Given the description of an element on the screen output the (x, y) to click on. 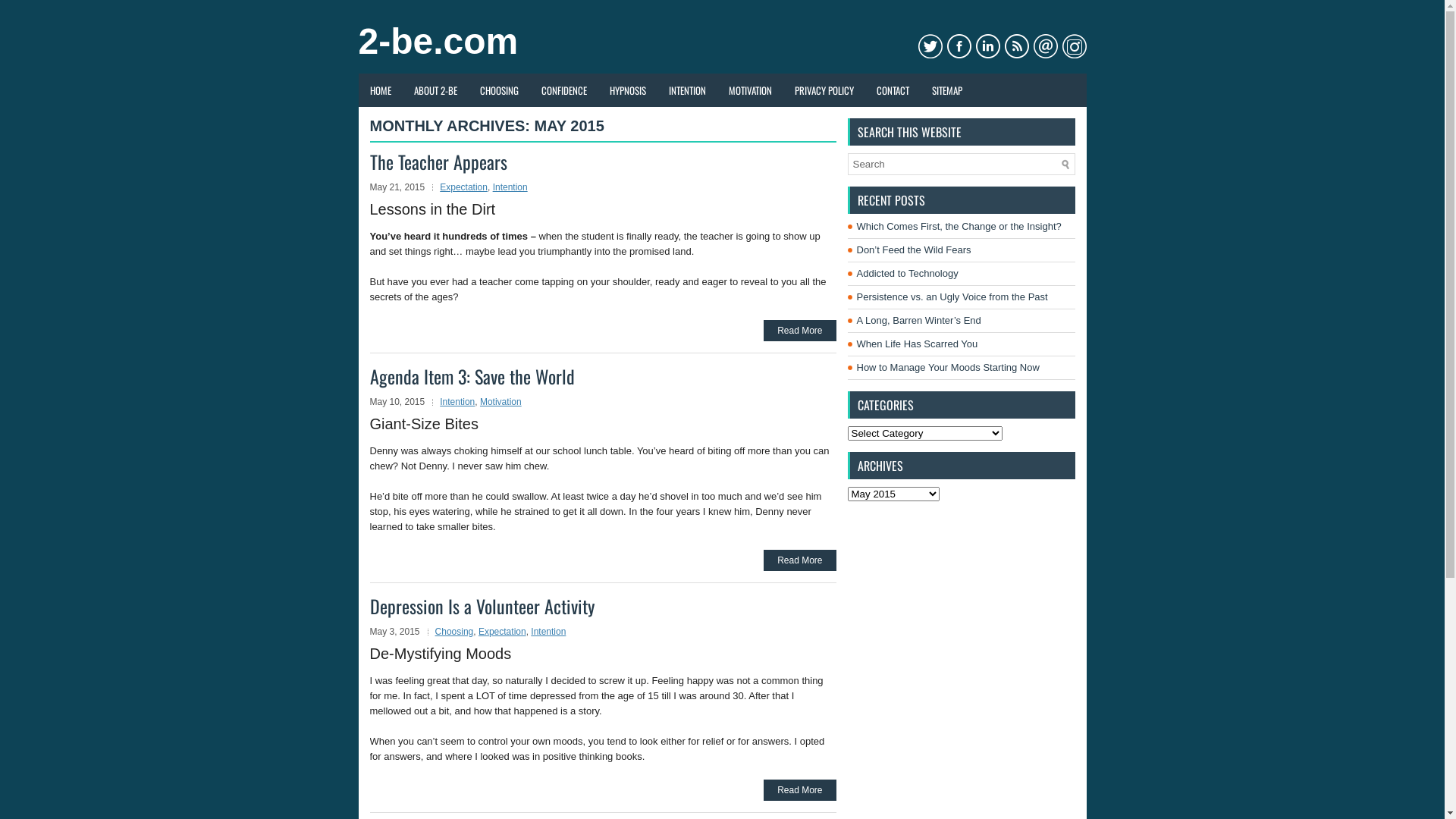
Read More Element type: text (799, 789)
ABOUT 2-BE Element type: text (434, 89)
The Teacher Appears Element type: text (438, 161)
CHOOSING Element type: text (499, 89)
Expectation Element type: text (463, 187)
Depression Is a Volunteer Activity Element type: text (482, 605)
Instagram Element type: hover (1073, 46)
HYPNOSIS Element type: text (626, 89)
RSS Feed Element type: hover (1016, 46)
HOME Element type: text (379, 89)
Persistence vs. an Ugly Voice from the Past Element type: text (952, 296)
SITEMAP Element type: text (946, 89)
Intention Element type: text (456, 401)
Agenda Item 3: Save the World Element type: text (472, 375)
Read More Element type: text (799, 330)
2-be.com Element type: text (437, 41)
Choosing Element type: text (454, 631)
PRIVACY POLICY Element type: text (823, 89)
Addicted to Technology Element type: text (907, 273)
How to Manage Your Moods Starting Now Element type: text (947, 367)
Intention Element type: text (547, 631)
When Life Has Scarred You Element type: text (917, 343)
Expectation Element type: text (502, 631)
Which Comes First, the Change or the Insight? Element type: text (958, 226)
CONTACT Element type: text (891, 89)
Email Element type: hover (1044, 46)
MOTIVATION Element type: text (750, 89)
Read More Element type: text (799, 560)
LinkedIn Element type: hover (987, 46)
CONFIDENCE Element type: text (563, 89)
Intention Element type: text (509, 187)
Motivation Element type: text (500, 401)
Twitter Element type: hover (929, 46)
Facebook Element type: hover (958, 46)
Type and hit enter Element type: hover (961, 164)
INTENTION Element type: text (686, 89)
